Given the description of an element on the screen output the (x, y) to click on. 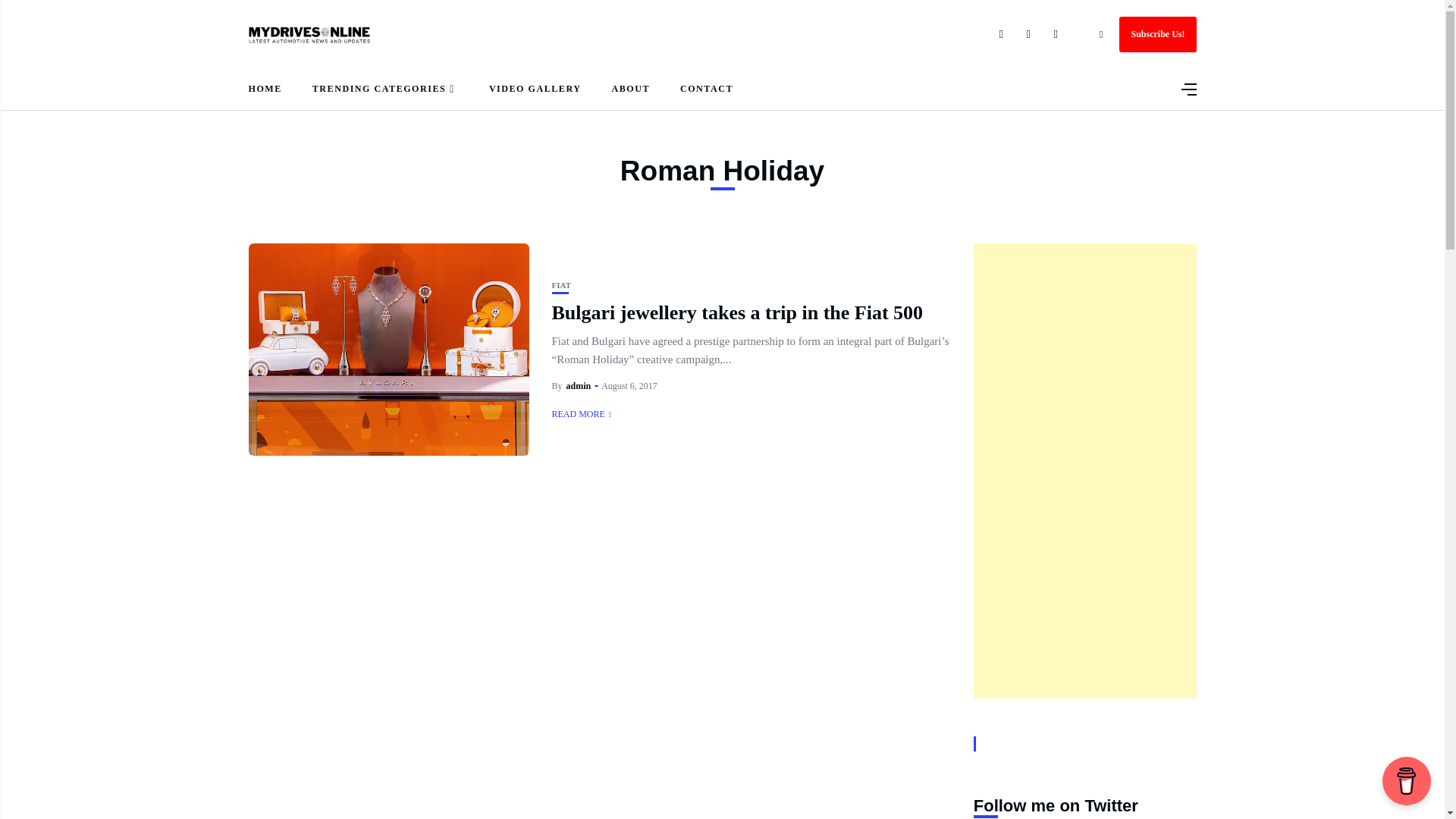
Posts by admin (578, 385)
